Given the description of an element on the screen output the (x, y) to click on. 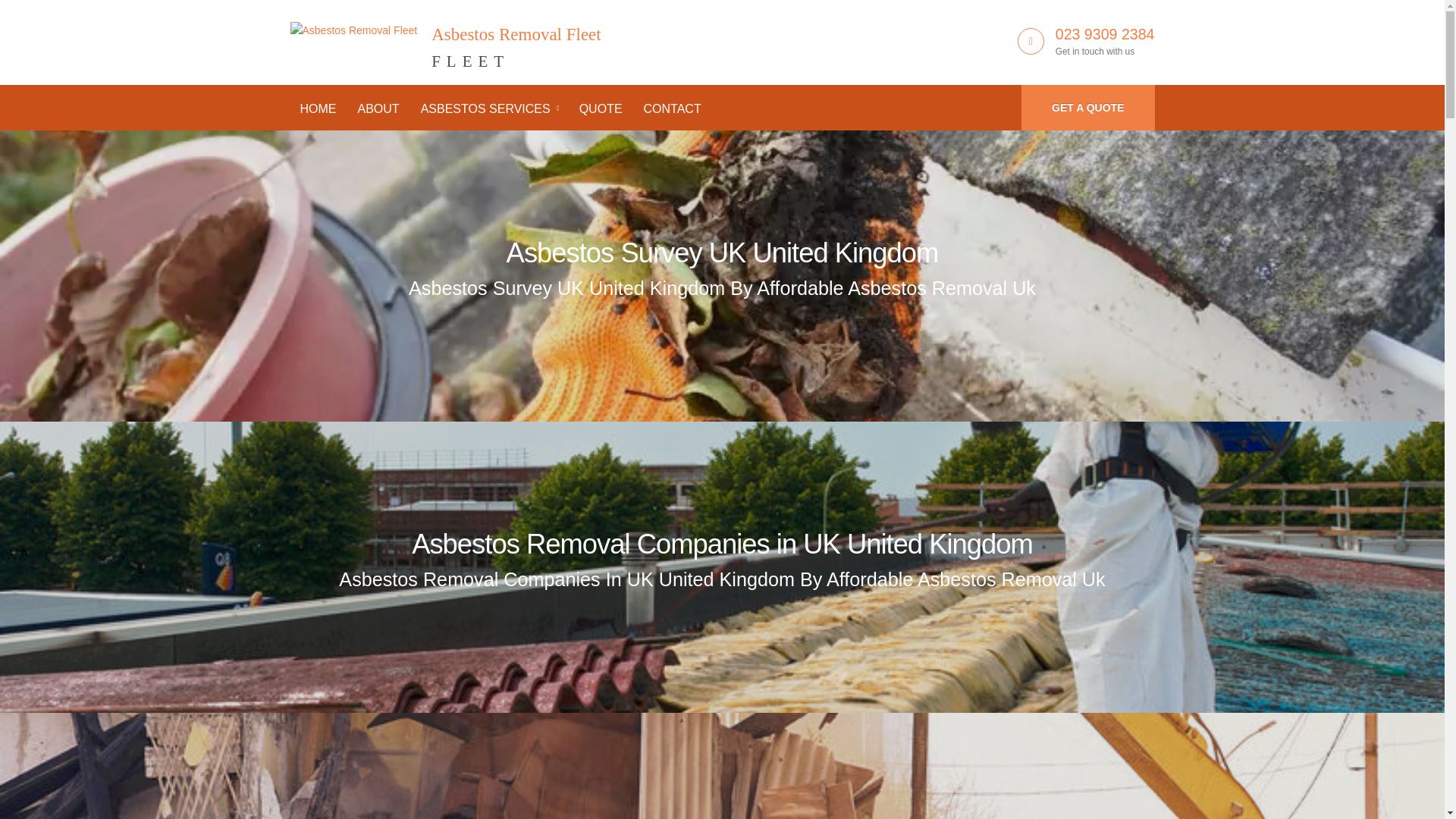
023 9309 2384 (1104, 33)
CONTACT (672, 109)
GET A QUOTE (444, 38)
QUOTE (1088, 107)
ABOUT (600, 109)
Asbestos Removal Companies in UK United Kingdom (378, 109)
ASBESTOS SERVICES (722, 543)
Asbestos Survey UK United Kingdom (488, 109)
HOME (722, 252)
